Given the description of an element on the screen output the (x, y) to click on. 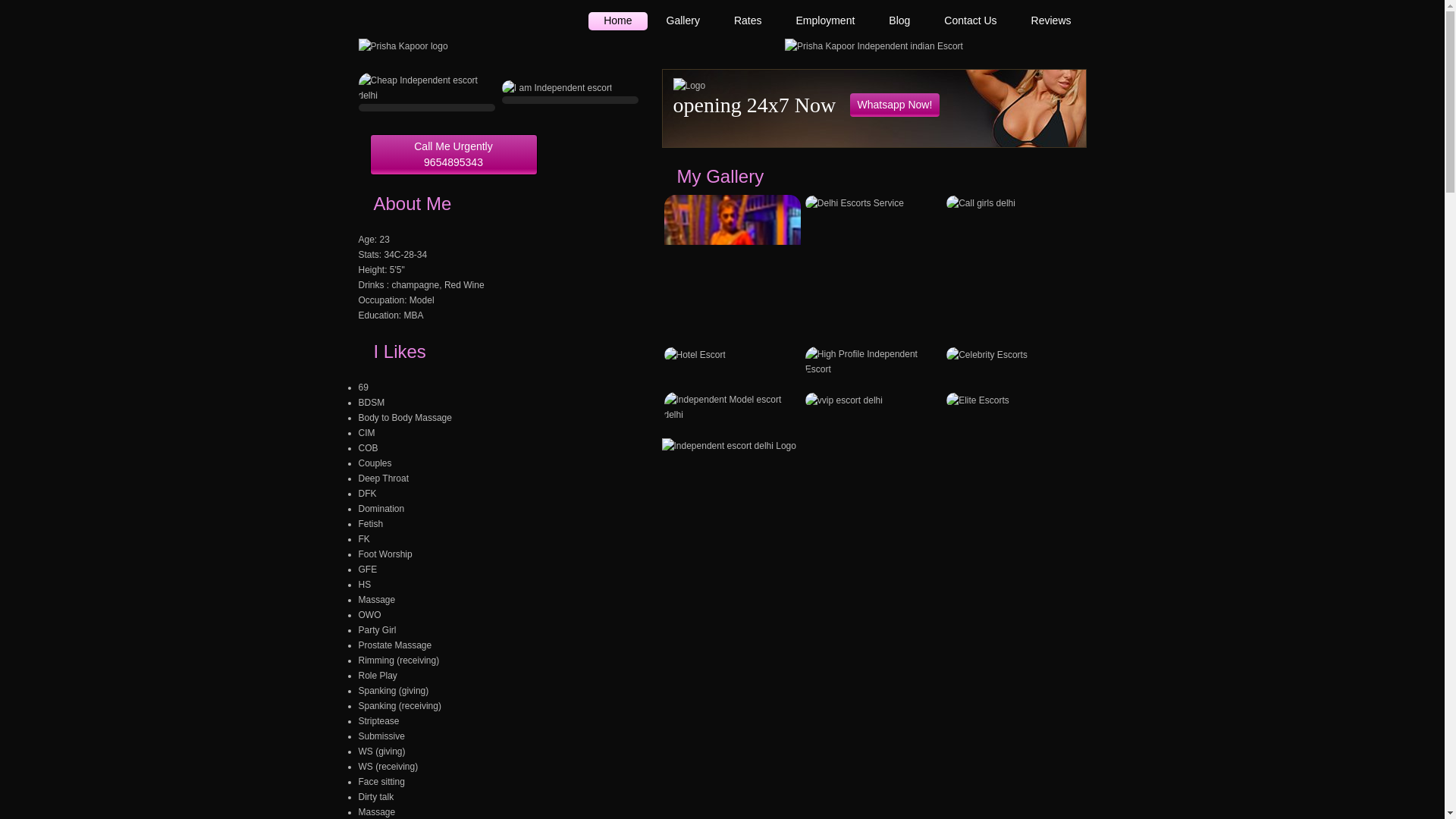
delhi escorts reviews page (1051, 21)
delhi escorts employment page (825, 21)
delhi escorts contact page (969, 21)
Rates (748, 21)
Contact Us (969, 21)
Blog (898, 21)
delhi escorts home page (873, 45)
delhi escorts rate page (748, 21)
Gallery (682, 21)
delhi escorts home page (617, 21)
Home (617, 21)
Reviews (1051, 21)
Employment (825, 21)
delhi escorts gallery page (682, 21)
delhi escorts blog page (898, 21)
